Given the description of an element on the screen output the (x, y) to click on. 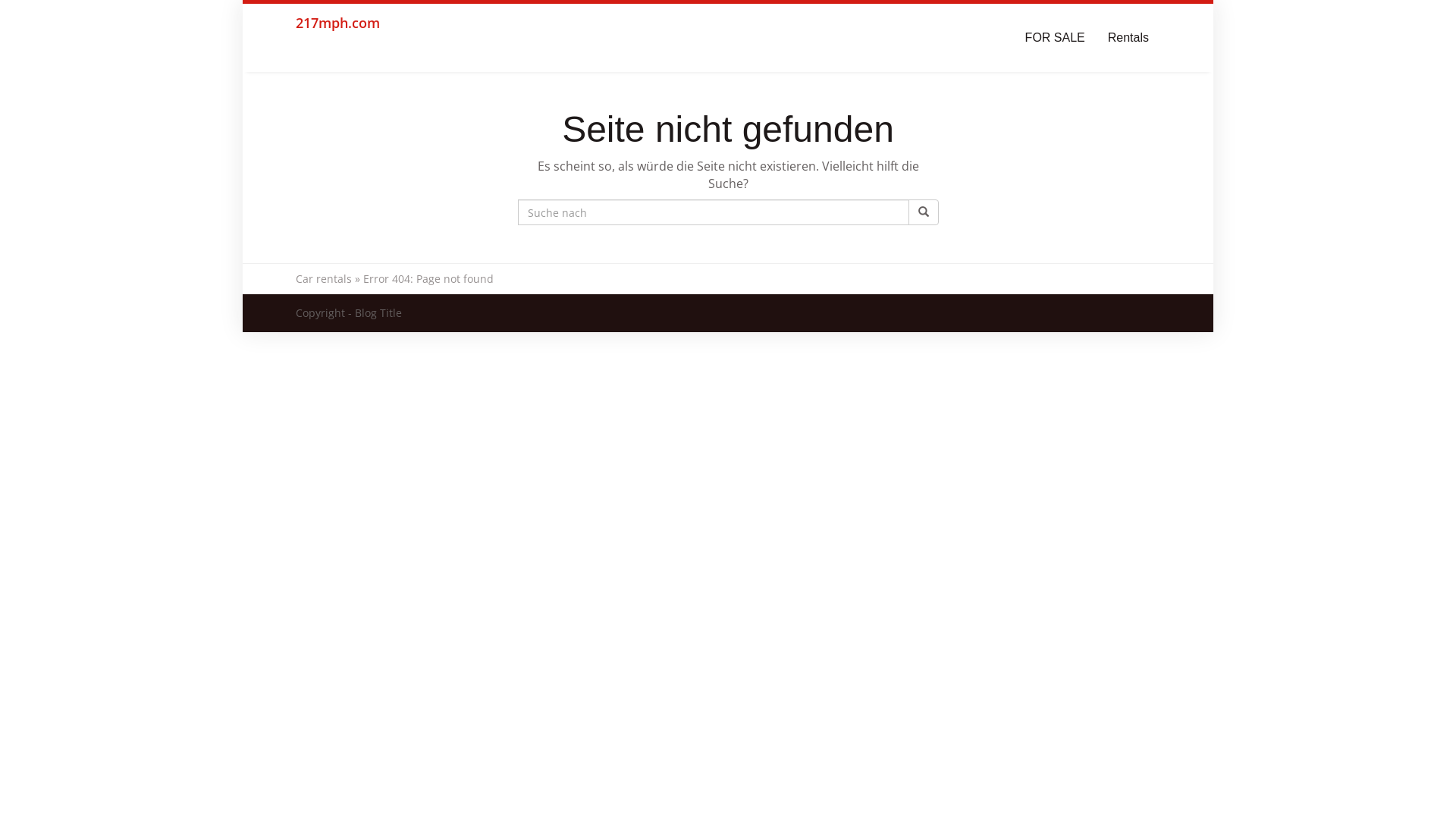
Rentals Element type: text (1128, 37)
FOR SALE Element type: text (1054, 37)
Car rentals Element type: text (323, 278)
217mph.com Element type: text (337, 37)
